Given the description of an element on the screen output the (x, y) to click on. 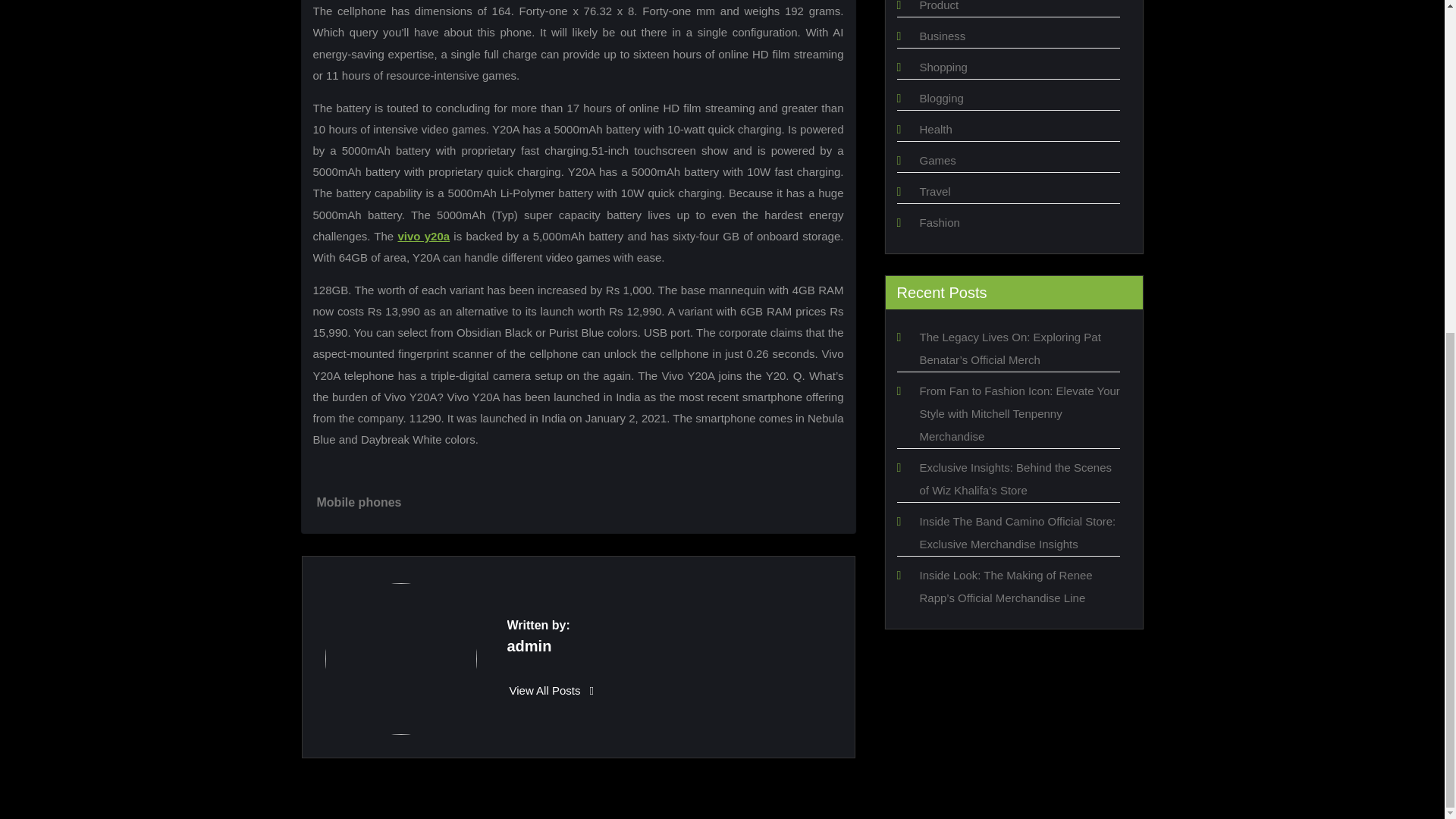
Shopping (942, 66)
Fashion (938, 222)
Games (936, 160)
Mobile phones (359, 502)
Health (935, 128)
Business (941, 35)
View All Posts (551, 689)
vivo y20a (423, 236)
